Given the description of an element on the screen output the (x, y) to click on. 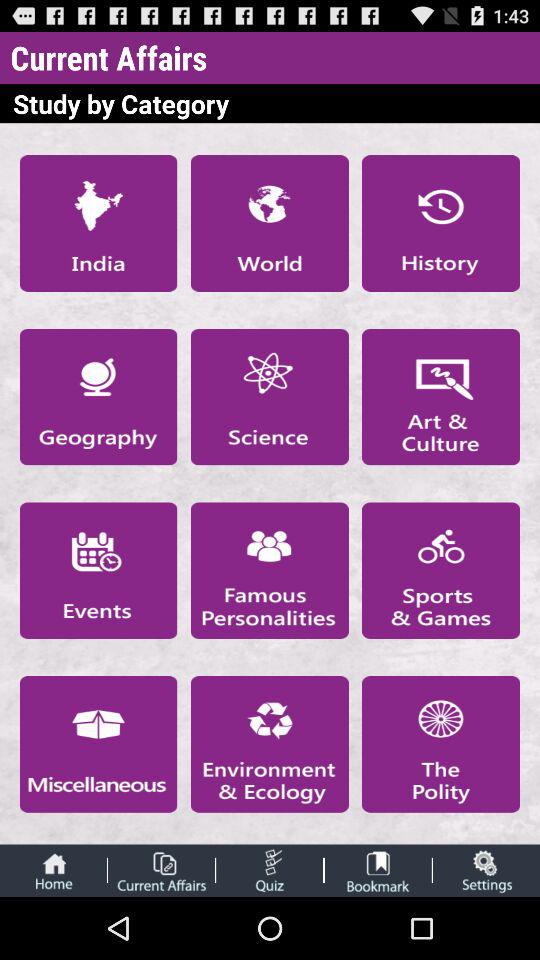
see india current affairs (98, 223)
